Given the description of an element on the screen output the (x, y) to click on. 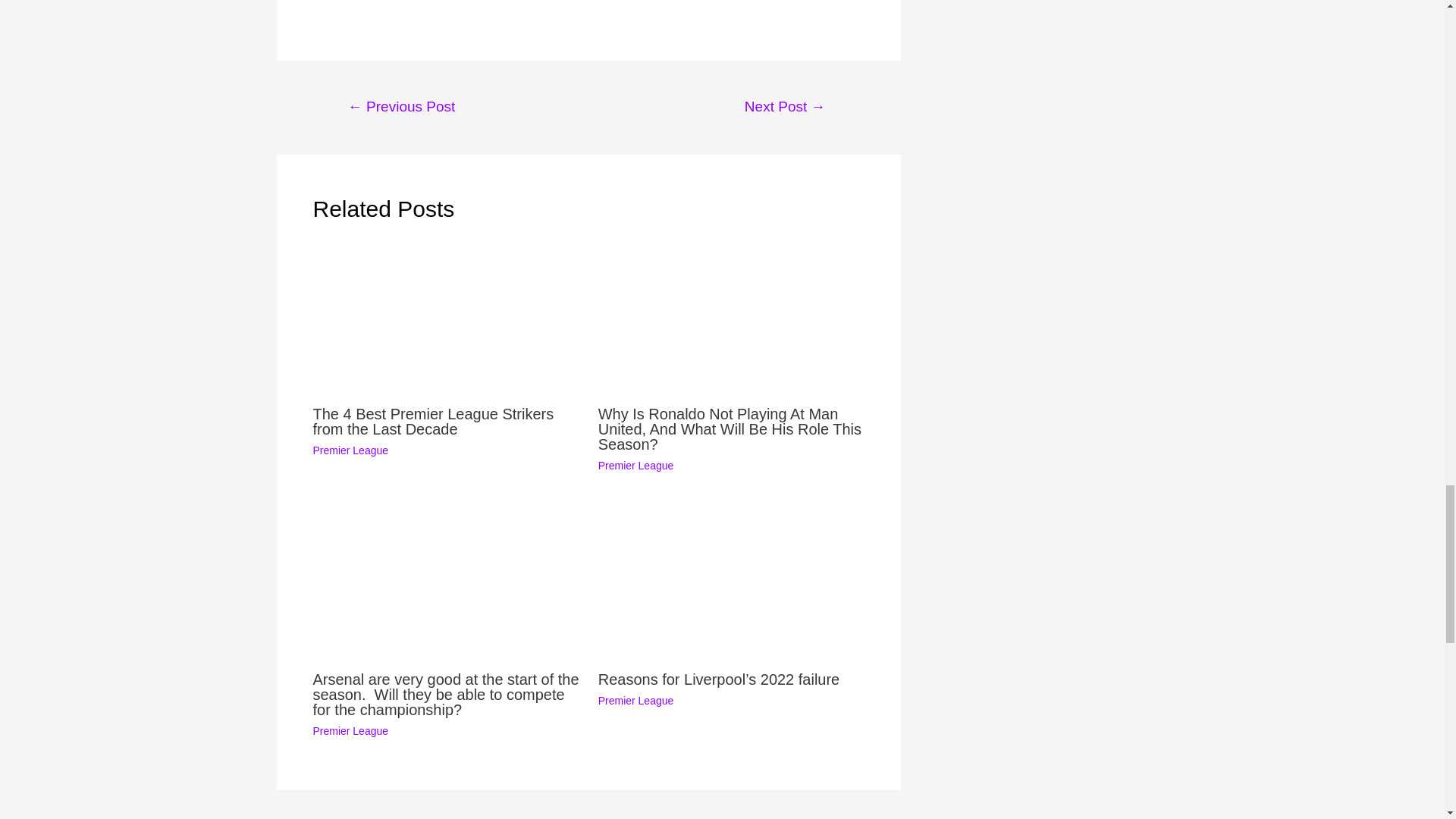
Sexual assaulter Dani Alves gets 4.5 years in prison (401, 107)
The 4 Best Premier League Strikers from the Last Decade (433, 421)
Premier League (350, 450)
Premier League (636, 465)
Premier League (636, 700)
Premier League (350, 730)
